Given the description of an element on the screen output the (x, y) to click on. 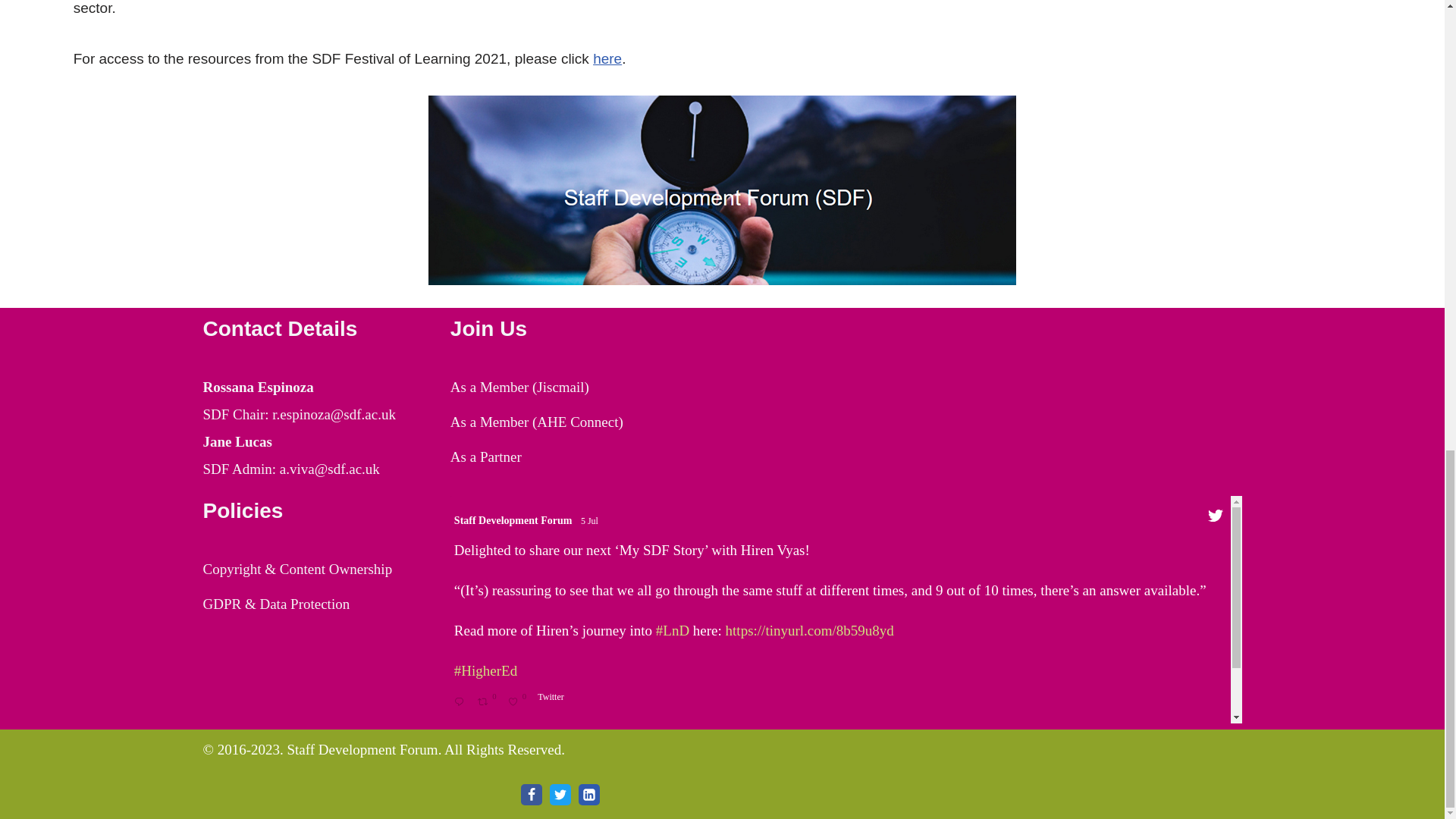
Twitter (560, 794)
LinkedIn (588, 794)
Facebook (531, 794)
